Given the description of an element on the screen output the (x, y) to click on. 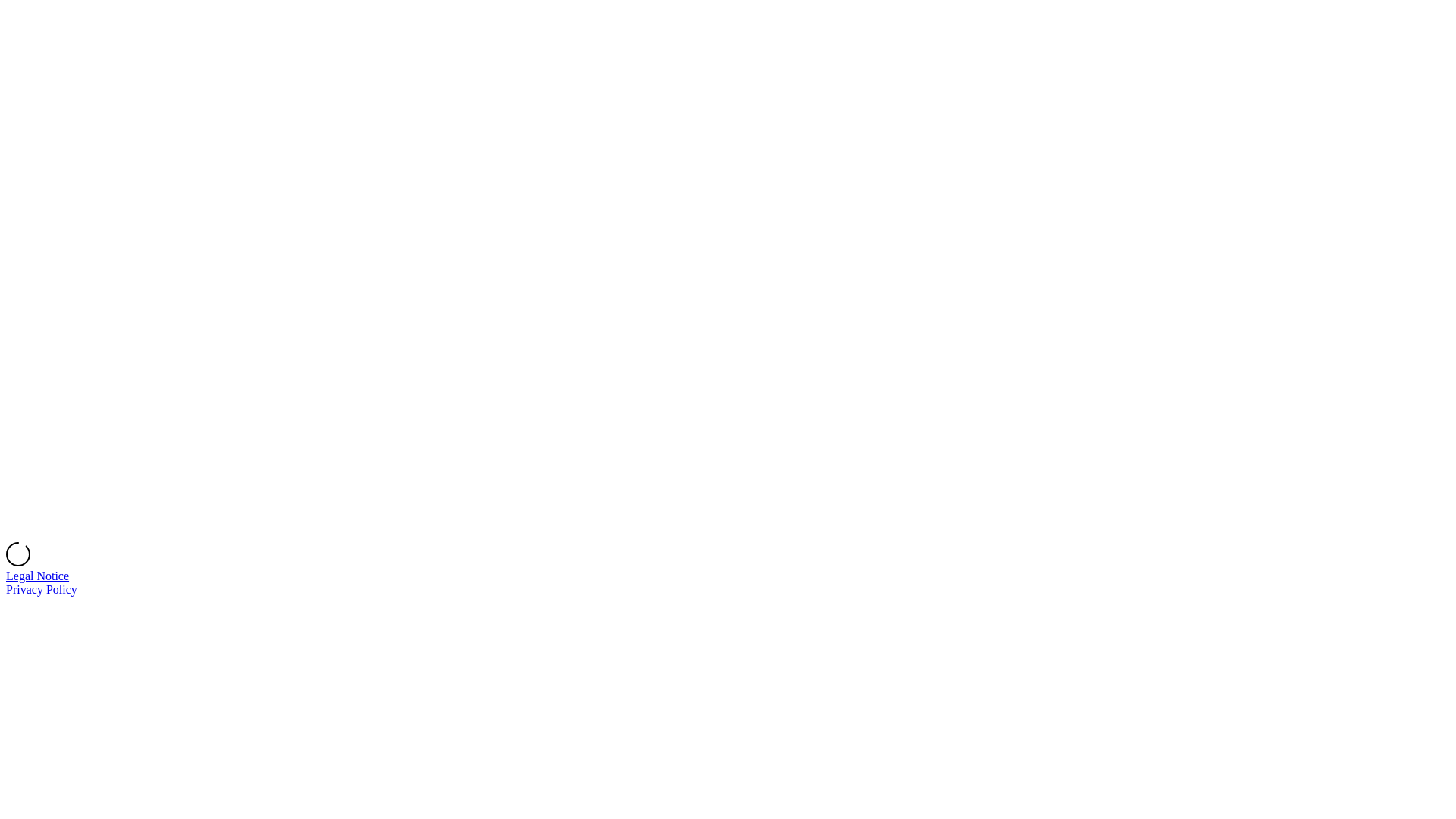
Jimdo Logo Element type: hover (727, 274)
Legal Notice Element type: text (37, 575)
Privacy Policy Element type: text (41, 589)
